Given the description of an element on the screen output the (x, y) to click on. 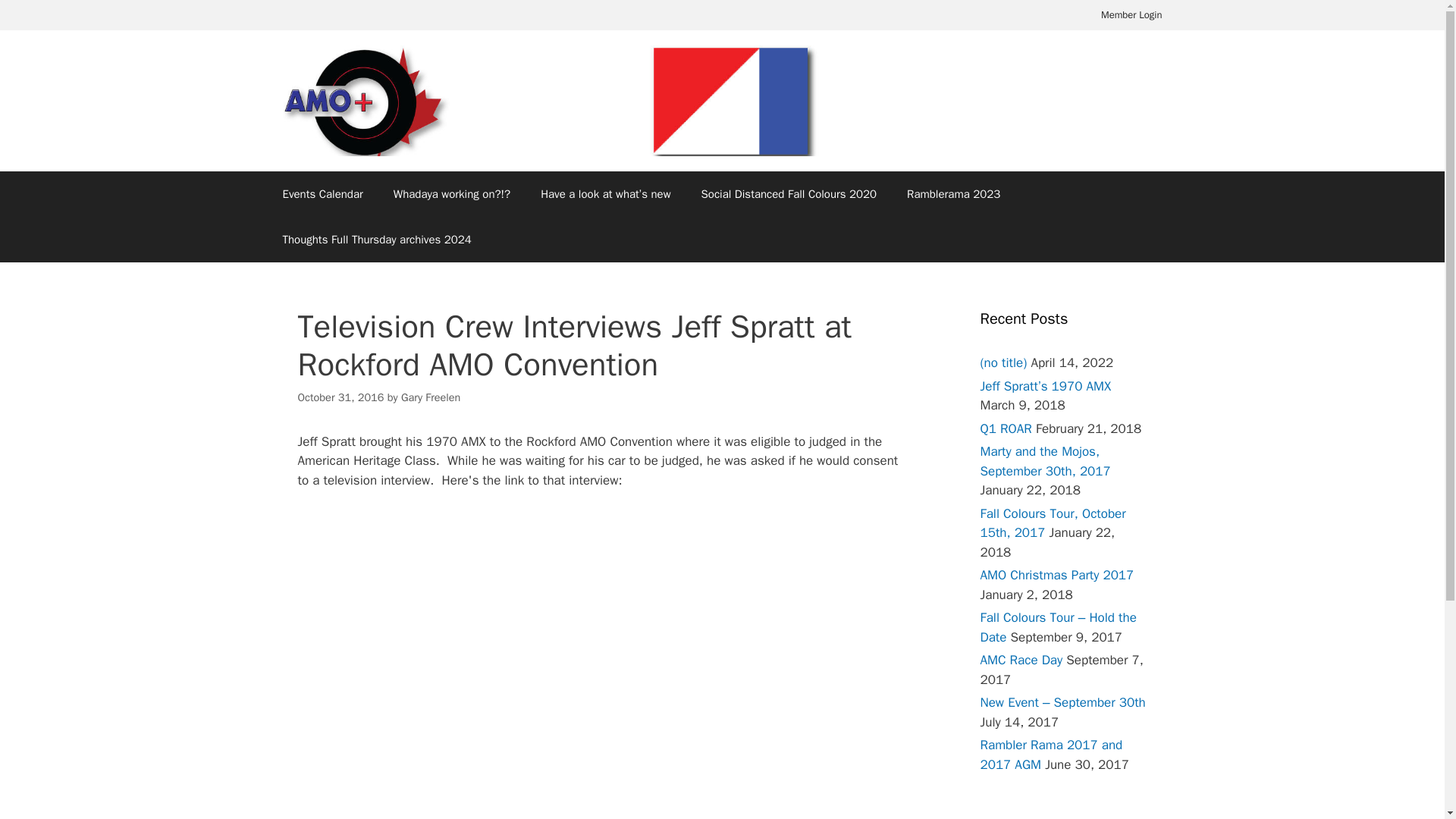
Whadaya working on?!? (451, 194)
Social Distanced Fall Colours 2020 (788, 194)
Member Login (1131, 15)
Rambler Rama 2017 and 2017 AGM (1050, 755)
Q1 ROAR (1004, 427)
Events Calendar (321, 194)
AMO Christmas Party 2017 (1056, 575)
View all posts by Gary Freelen (430, 397)
AMC Race Day (1020, 659)
for members only (1131, 15)
Fall Colours Tour, October 15th, 2017 (1052, 522)
Gary Freelen (430, 397)
Thoughts Full Thursday archives 2024 (376, 239)
Ramblerama 2023 (952, 194)
Marty and the Mojos, September 30th, 2017 (1044, 461)
